Given the description of an element on the screen output the (x, y) to click on. 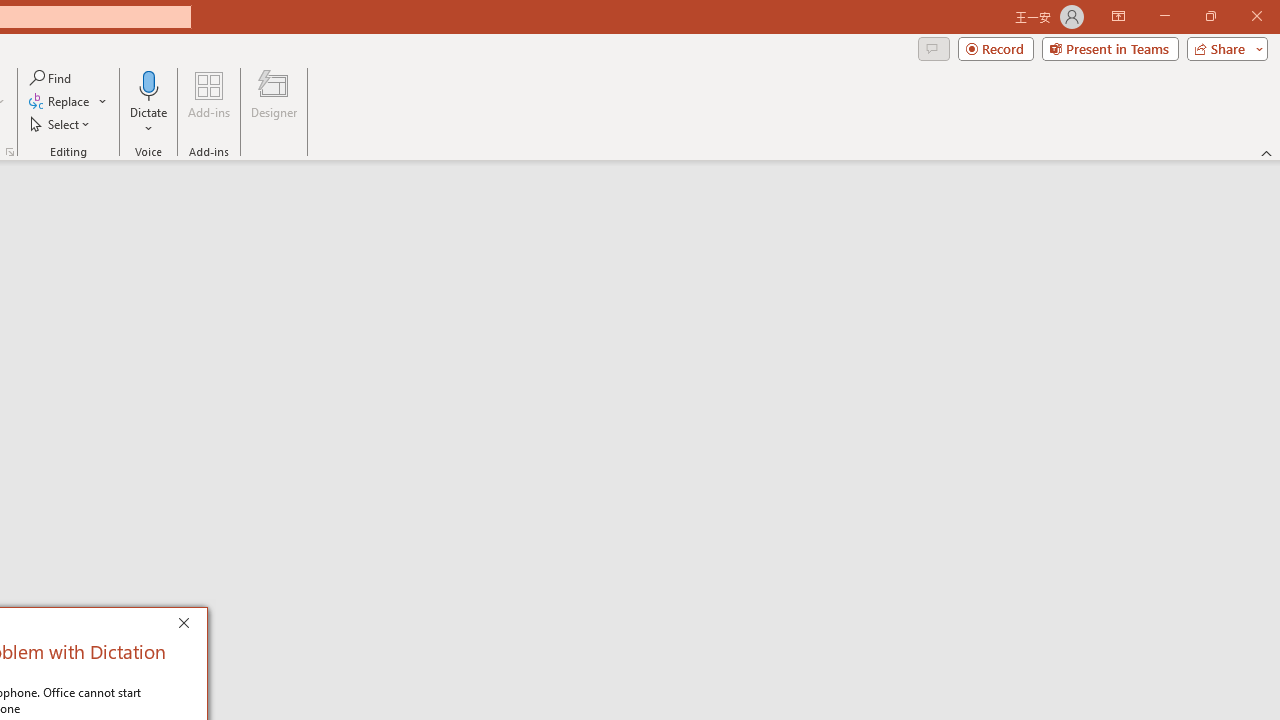
Select (61, 124)
Format Object... (9, 151)
Find... (51, 78)
